Given the description of an element on the screen output the (x, y) to click on. 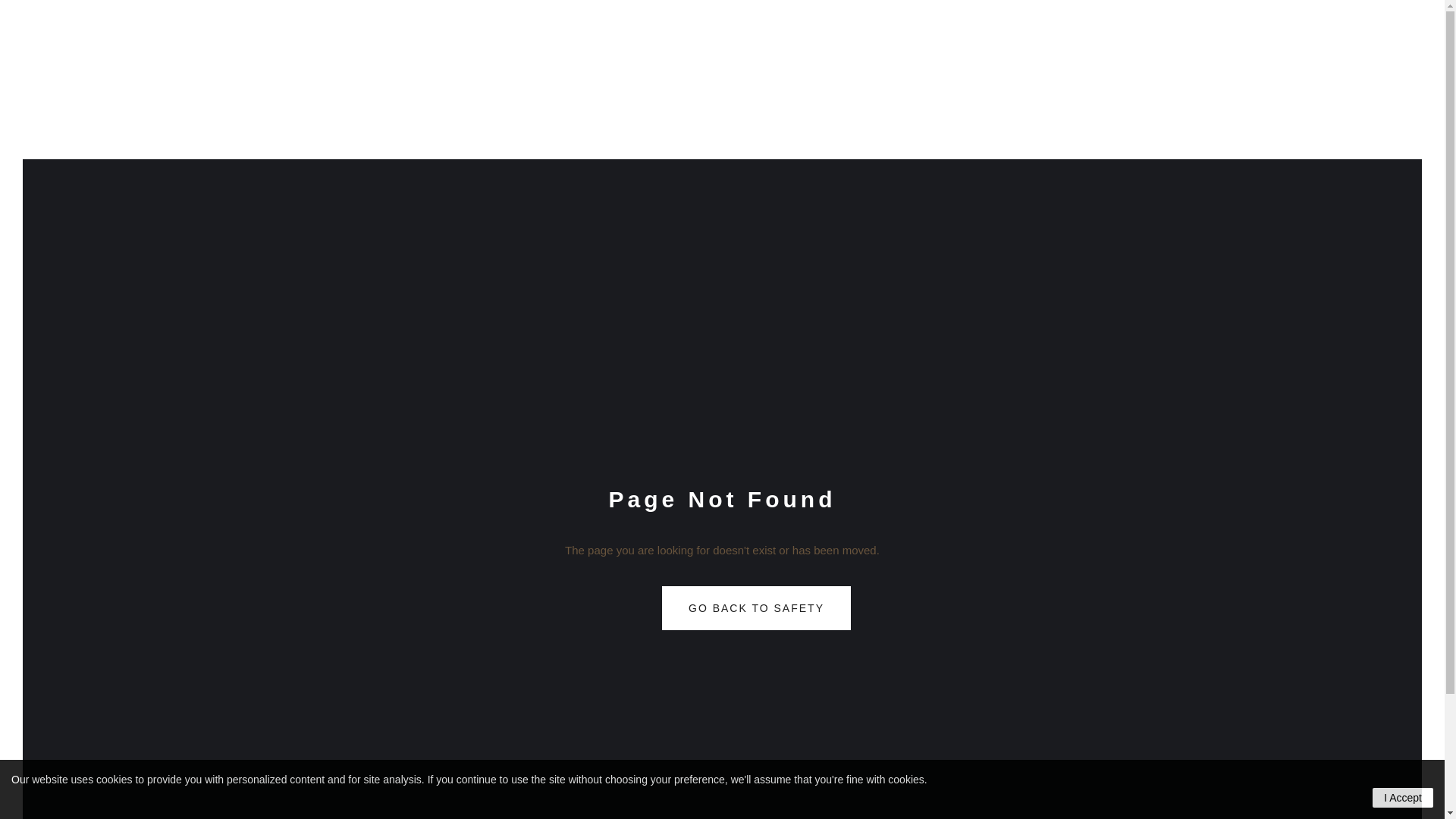
GO BACK TO SAFETY Element type: text (756, 608)
I Deny Element type: text (26, 9)
I Accept Element type: text (1402, 797)
